Given the description of an element on the screen output the (x, y) to click on. 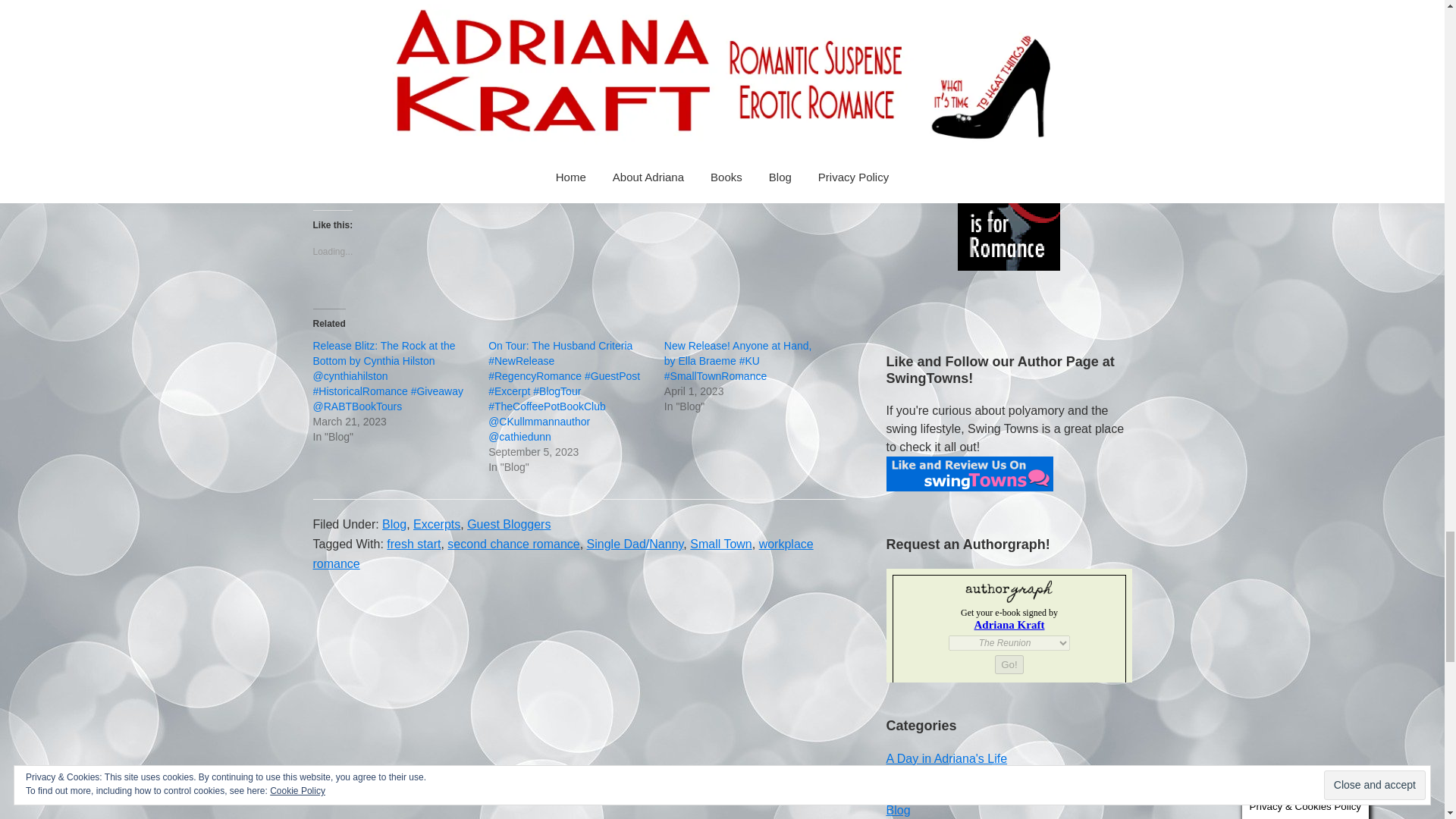
Click to share on Twitter (324, 173)
Excerpts (436, 523)
Blog (393, 523)
fresh start (414, 543)
second chance romance (512, 543)
More (406, 173)
Guest Bloggers (508, 523)
Click to share on Facebook (354, 173)
